Given the description of an element on the screen output the (x, y) to click on. 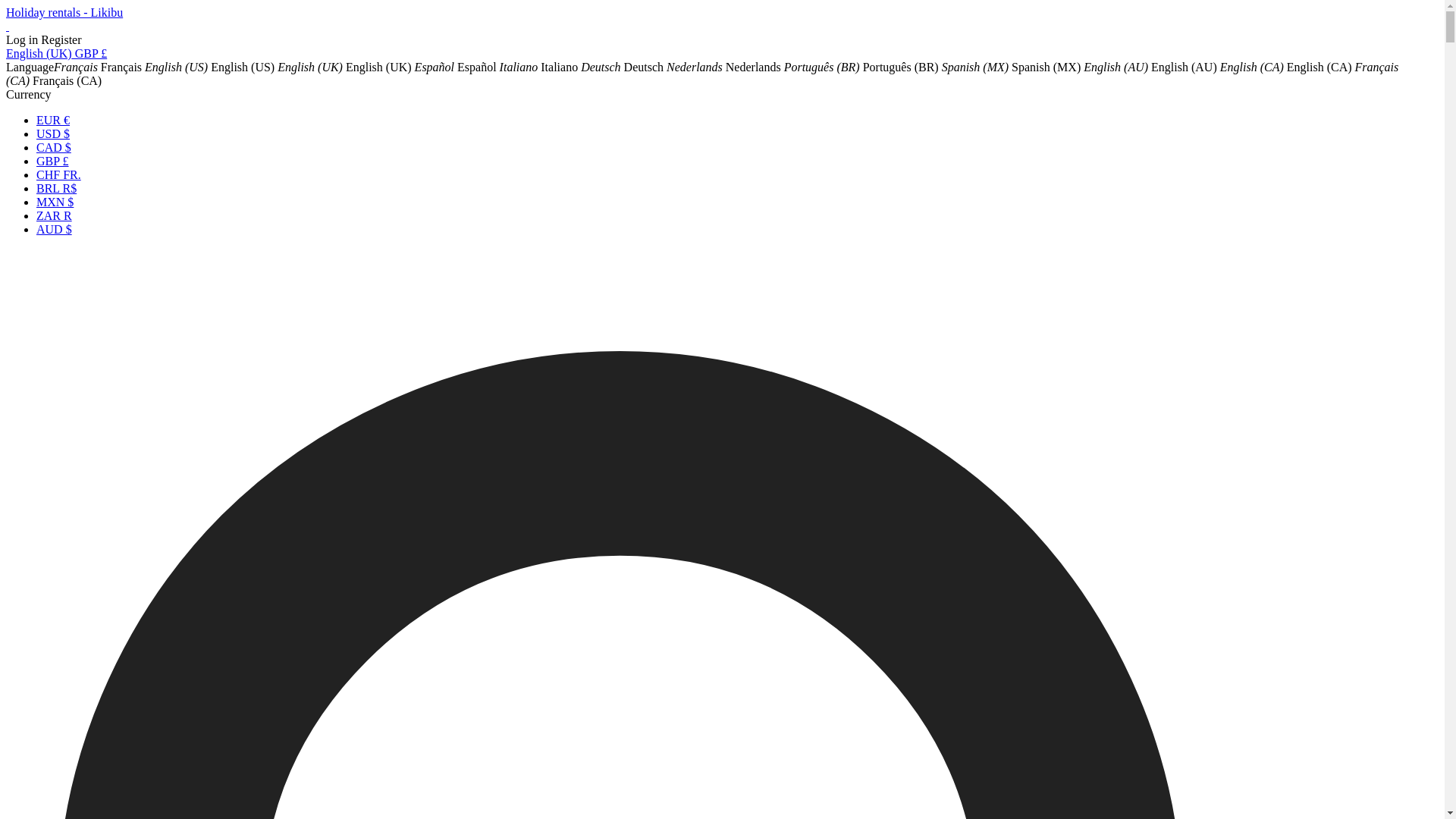
Holiday rentals - Likibu (63, 11)
ZAR R (53, 215)
CHF FR. (58, 174)
